Given the description of an element on the screen output the (x, y) to click on. 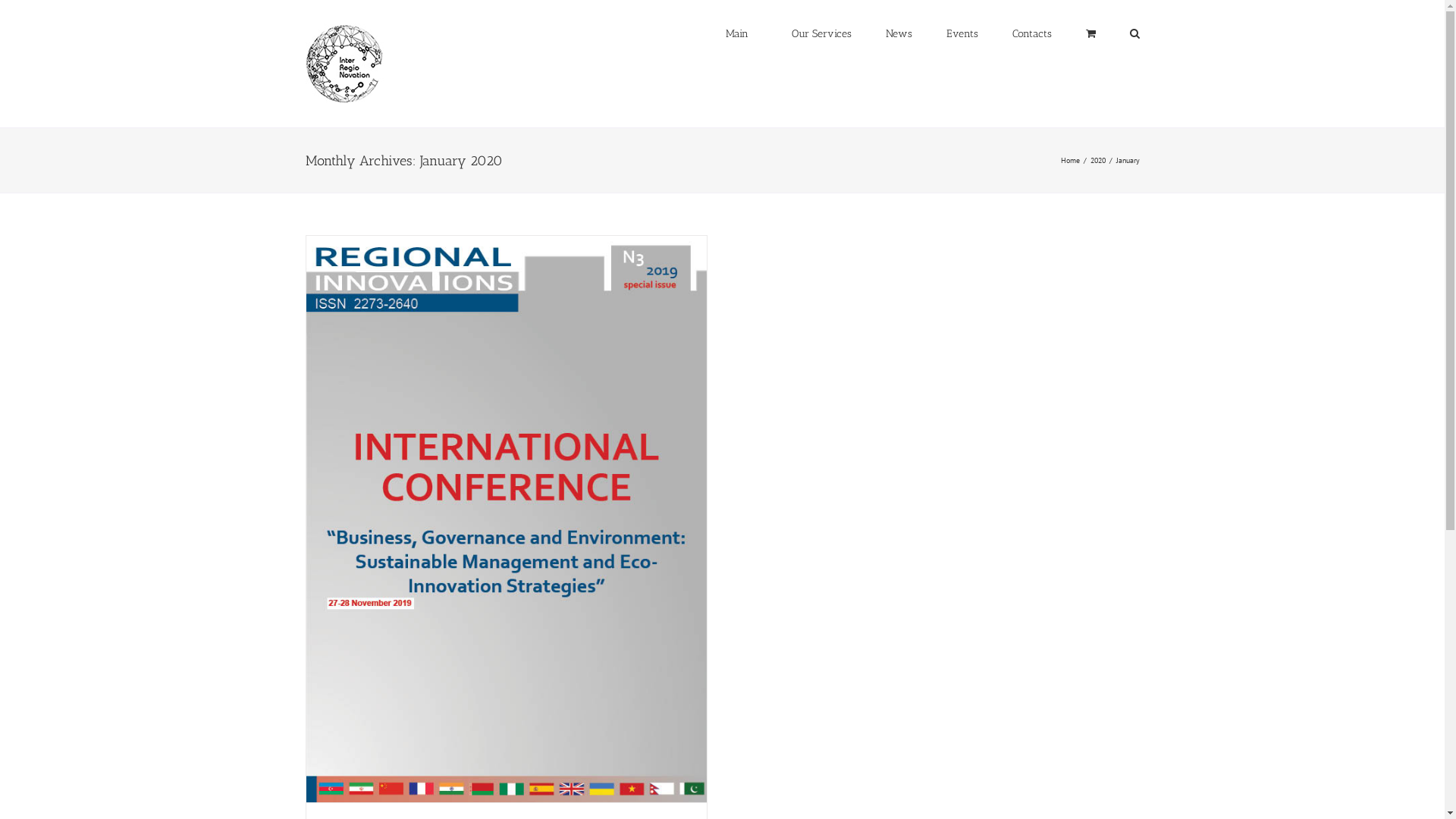
Main Element type: text (735, 32)
Contacts Element type: text (1031, 32)
Events Element type: text (962, 32)
Our Services Element type: text (816, 32)
Home Element type: text (1069, 159)
News Element type: text (898, 32)
2020 Element type: text (1097, 159)
info@irn.center Element type: text (381, 719)
